Given the description of an element on the screen output the (x, y) to click on. 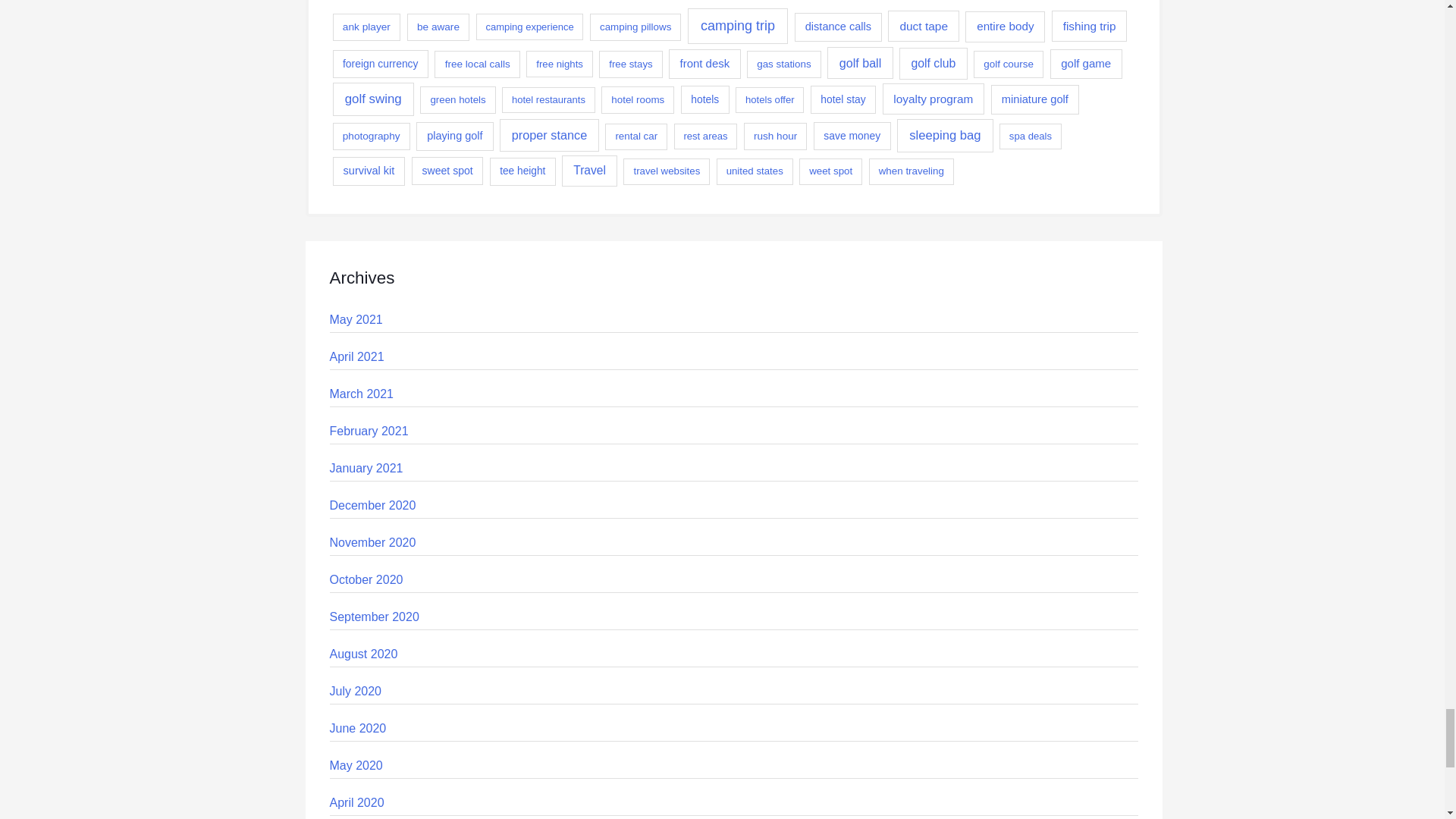
ank player (365, 26)
entire body (1005, 26)
distance calls (838, 27)
camping pillows (635, 26)
free local calls (476, 63)
foreign currency (379, 63)
camping trip (737, 26)
be aware (438, 26)
duct tape (923, 25)
camping experience (529, 26)
fishing trip (1088, 25)
